Given the description of an element on the screen output the (x, y) to click on. 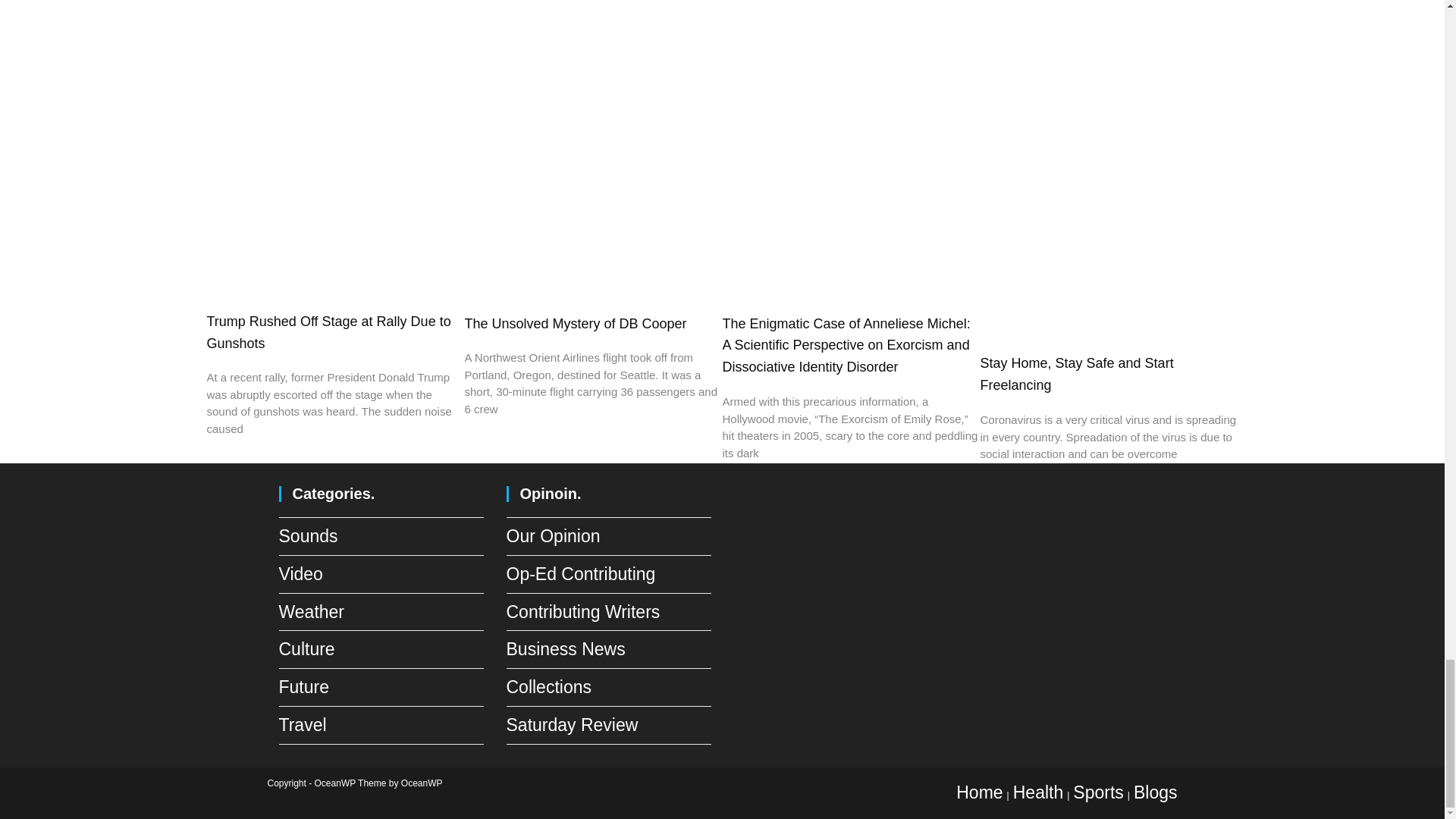
Trump Rushed Off Stage at Rally Due to Gunshots (327, 332)
